Given the description of an element on the screen output the (x, y) to click on. 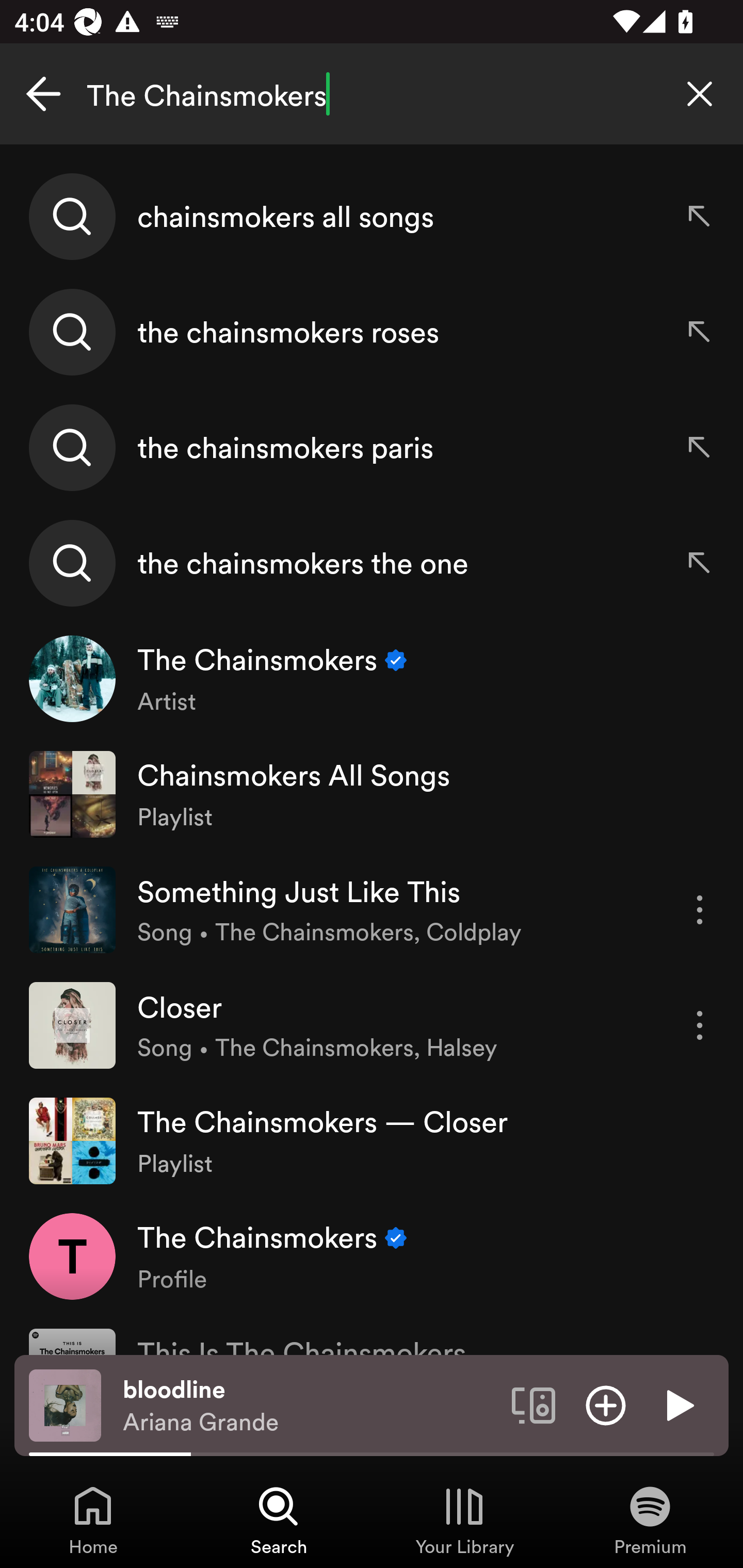
The Chainsmokers (371, 93)
Cancel (43, 93)
Clear search query (699, 93)
chainsmokers all songs (371, 216)
the chainsmokers roses (371, 332)
the chainsmokers paris (371, 447)
the chainsmokers the one (371, 562)
The Chainsmokers Verified Artist (371, 678)
Chainsmokers All Songs Playlist (371, 793)
More options for song Something Just Like This (699, 910)
More options for song Closer (699, 1025)
The Chainsmokers — Closer Playlist (371, 1140)
The Chainsmokers Verified Profile (371, 1255)
bloodline Ariana Grande (309, 1405)
The cover art of the currently playing track (64, 1404)
Connect to a device. Opens the devices menu (533, 1404)
Add item (605, 1404)
Play (677, 1404)
Home, Tab 1 of 4 Home Home (92, 1519)
Search, Tab 2 of 4 Search Search (278, 1519)
Your Library, Tab 3 of 4 Your Library Your Library (464, 1519)
Premium, Tab 4 of 4 Premium Premium (650, 1519)
